Given the description of an element on the screen output the (x, y) to click on. 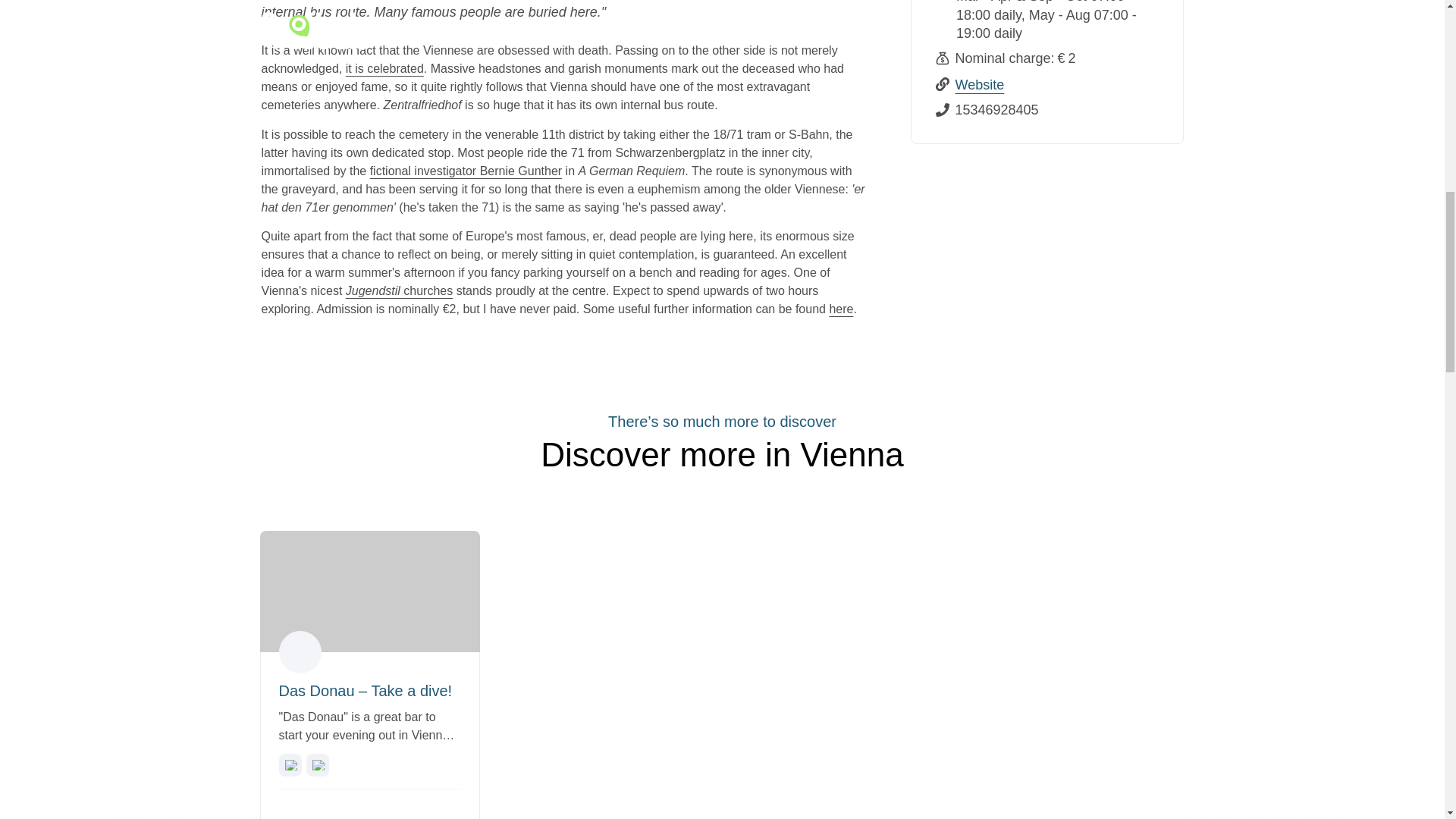
it is celebrated (384, 68)
here (840, 308)
Karl Lueger Church homepage (399, 290)
sabrinagrohsebner (300, 651)
fictional investigator Bernie Gunther (465, 170)
German Requiem fansite (465, 170)
Jugendstil churches (399, 290)
Website (979, 84)
The Viennese obsession with death (384, 68)
